Given the description of an element on the screen output the (x, y) to click on. 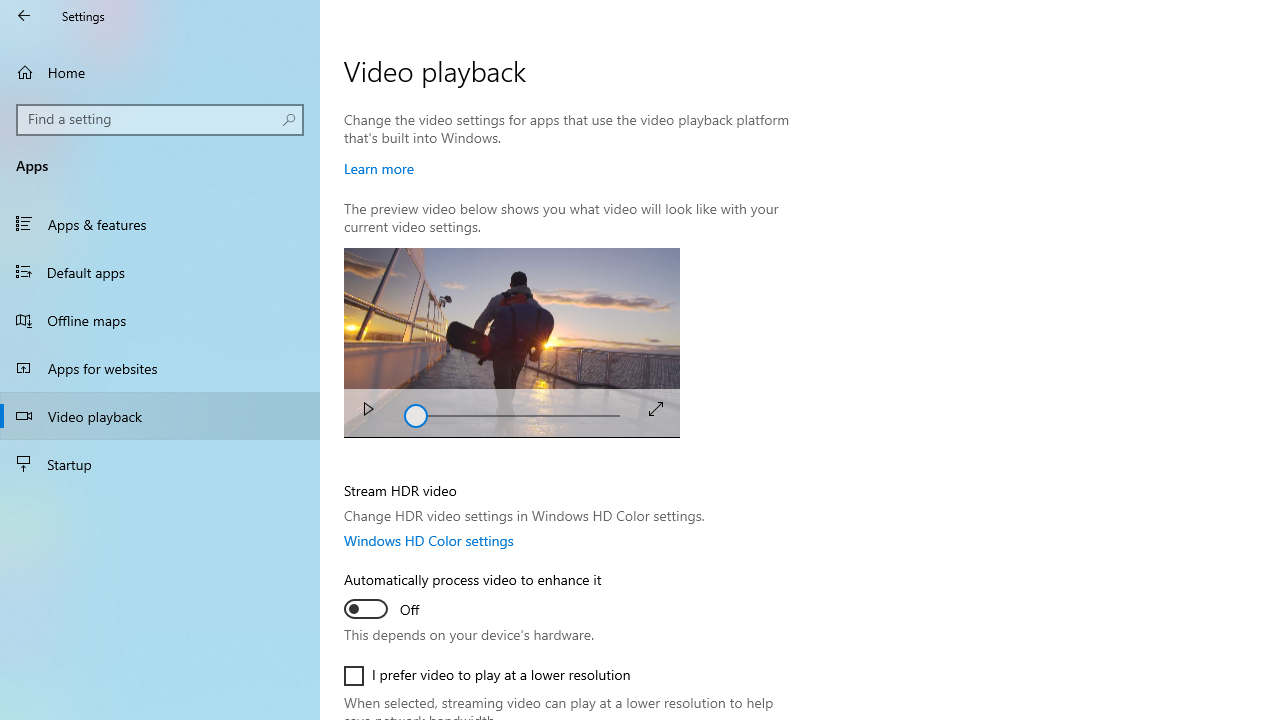
Seek (511, 412)
